Given the description of an element on the screen output the (x, y) to click on. 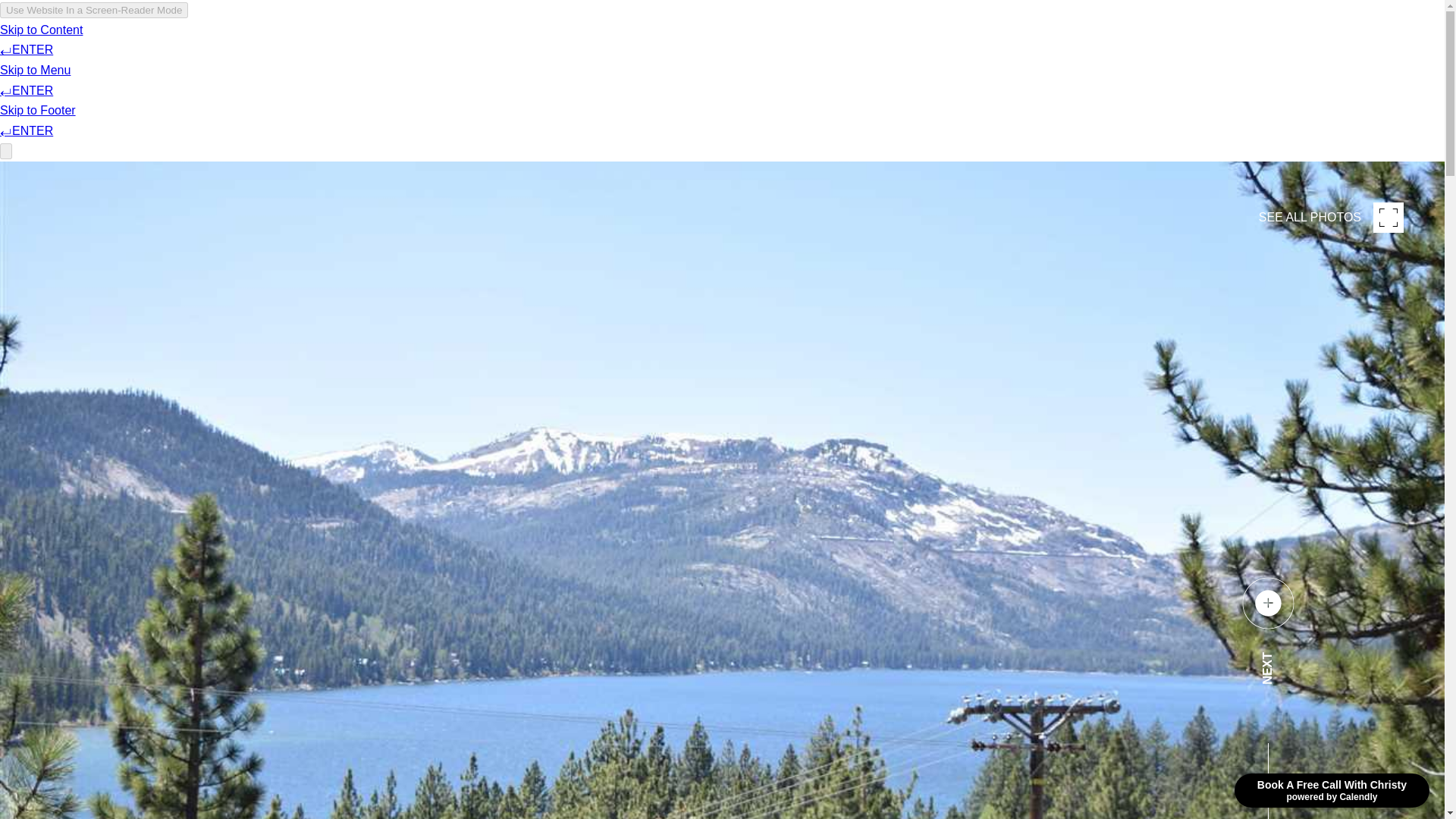
EXPLORE NEIGHBORHOODS (564, 56)
THE TEAM (1046, 56)
FREE CONSULTATION (917, 56)
YOUR HOMES VALUE (752, 56)
BUY (380, 56)
SELL (431, 56)
